Given the description of an element on the screen output the (x, y) to click on. 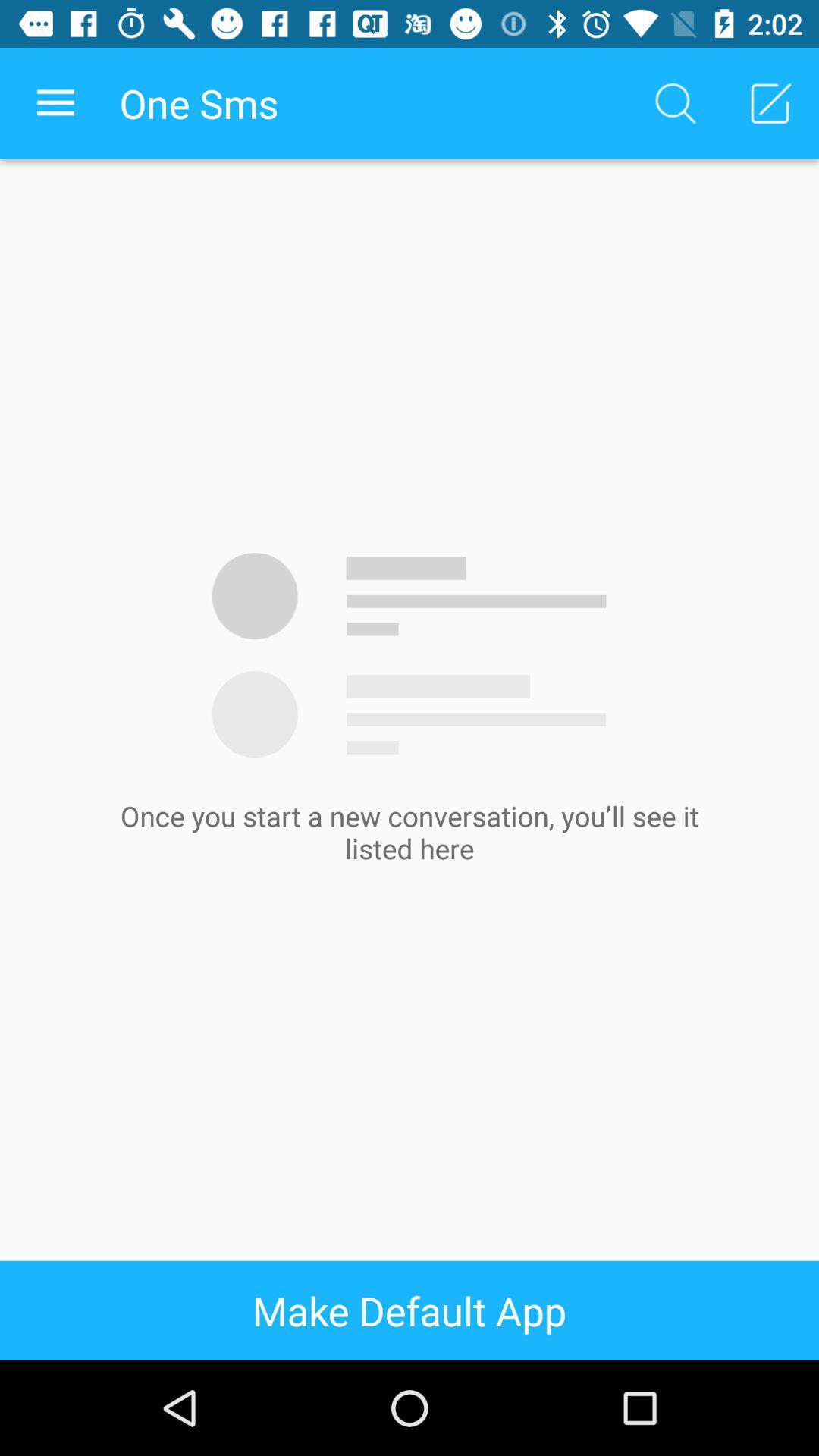
open app next to the one sms icon (675, 103)
